Given the description of an element on the screen output the (x, y) to click on. 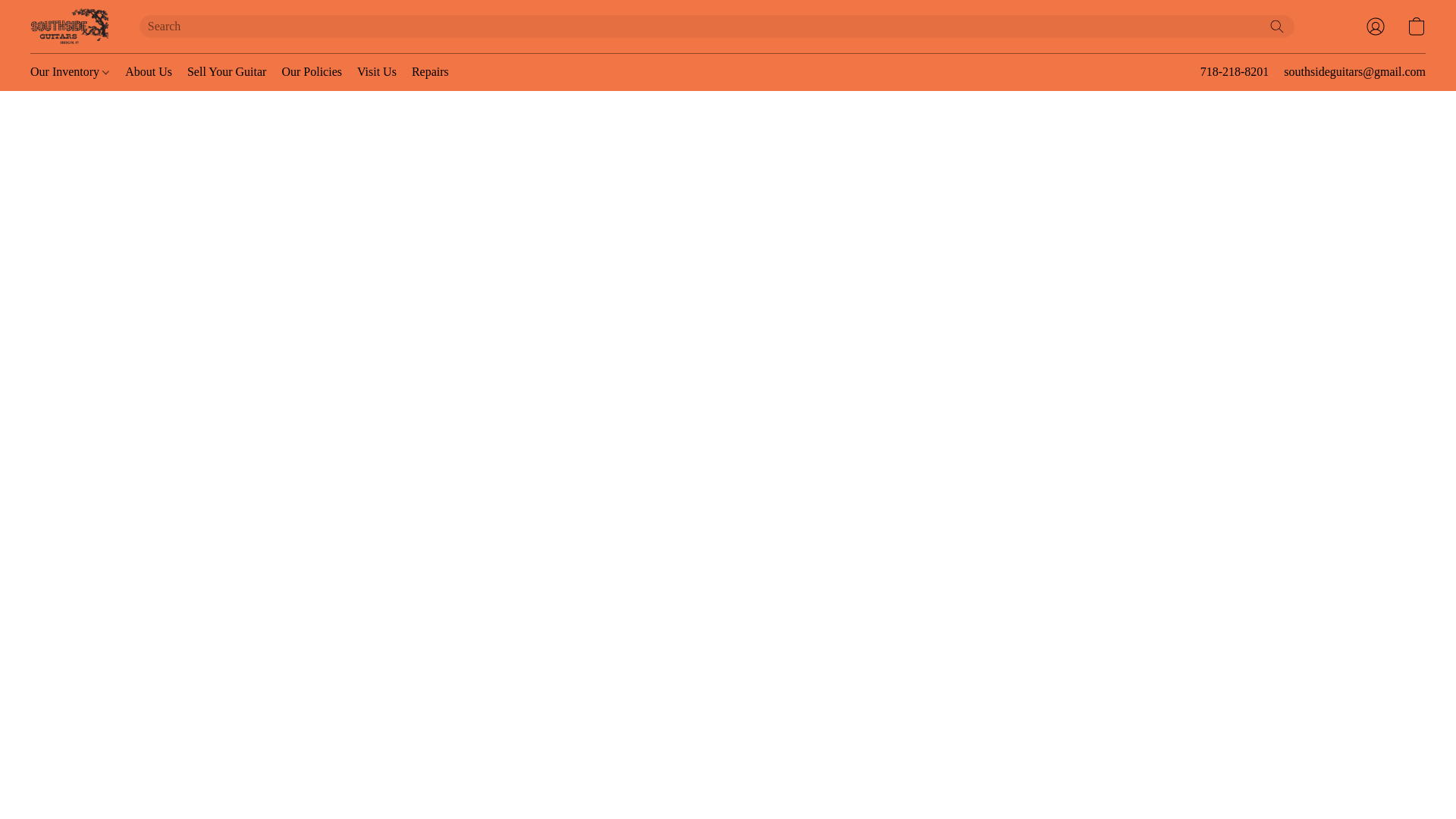
Repairs (426, 71)
Visit Us (376, 71)
Go to your shopping cart (1416, 26)
About Us (148, 71)
718-218-8201 (1234, 71)
Sell Your Guitar (226, 71)
Our Inventory (73, 71)
Our Policies (311, 71)
